Given the description of an element on the screen output the (x, y) to click on. 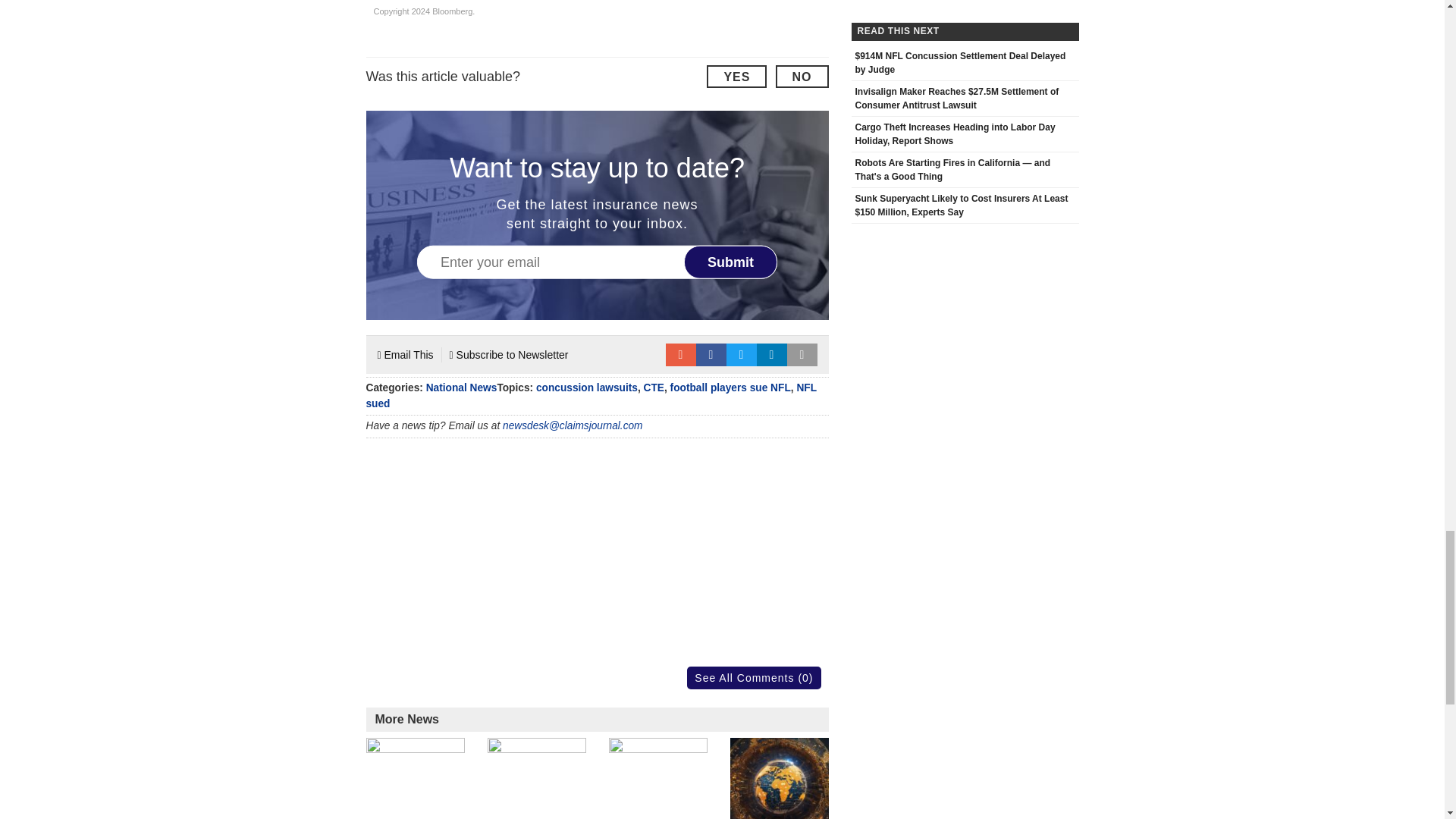
Print Article (801, 354)
Share on Twitter. (741, 354)
YES (736, 76)
Submit (730, 261)
Email This (405, 354)
NO (801, 76)
Share on LinkedIn. (772, 354)
Email to a friend (680, 354)
Post to Facebook. (710, 354)
Subscribe to Newsletter (509, 354)
